Given the description of an element on the screen output the (x, y) to click on. 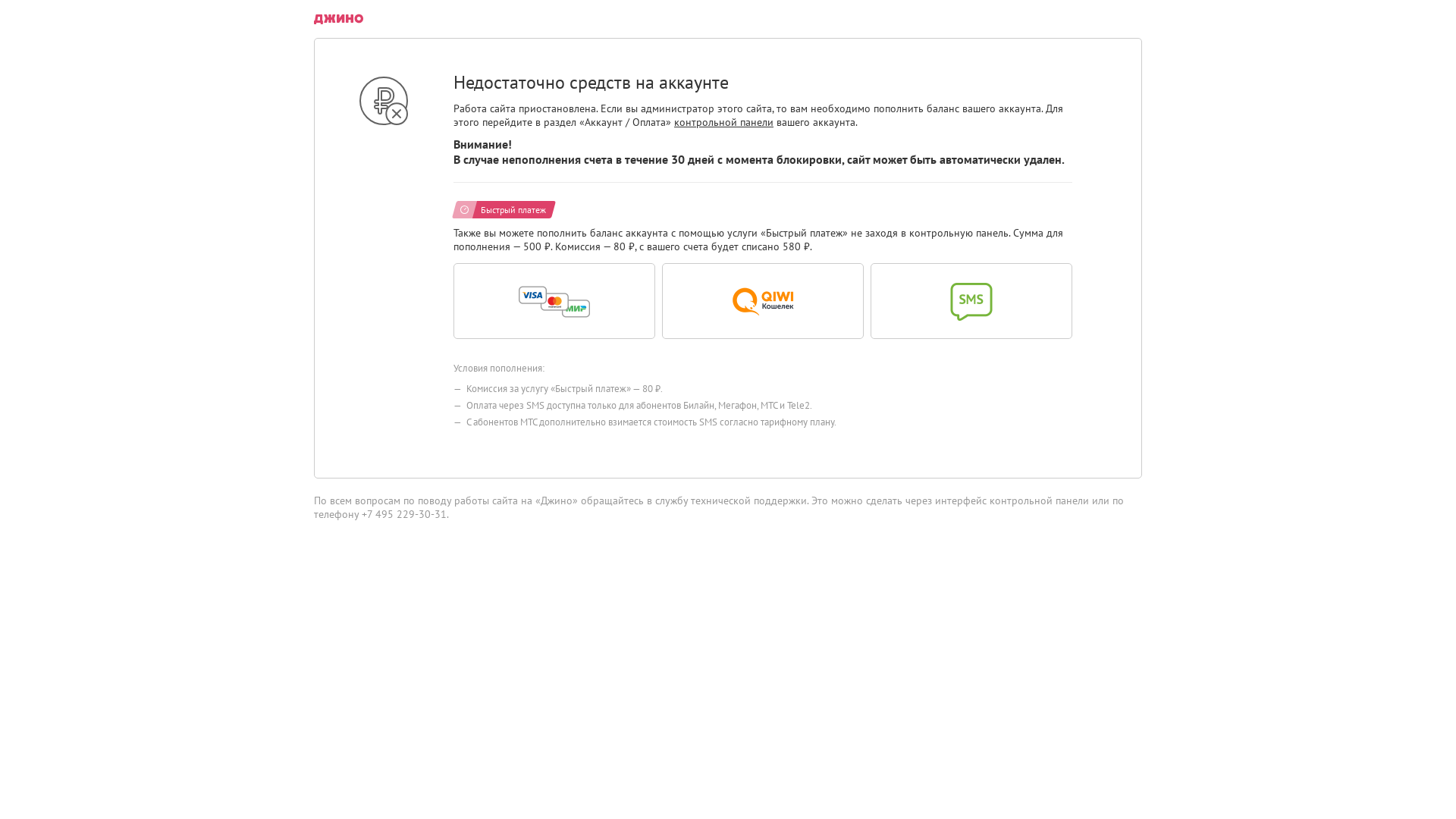
+7 495 229-30-31 Element type: text (403, 513)
